Given the description of an element on the screen output the (x, y) to click on. 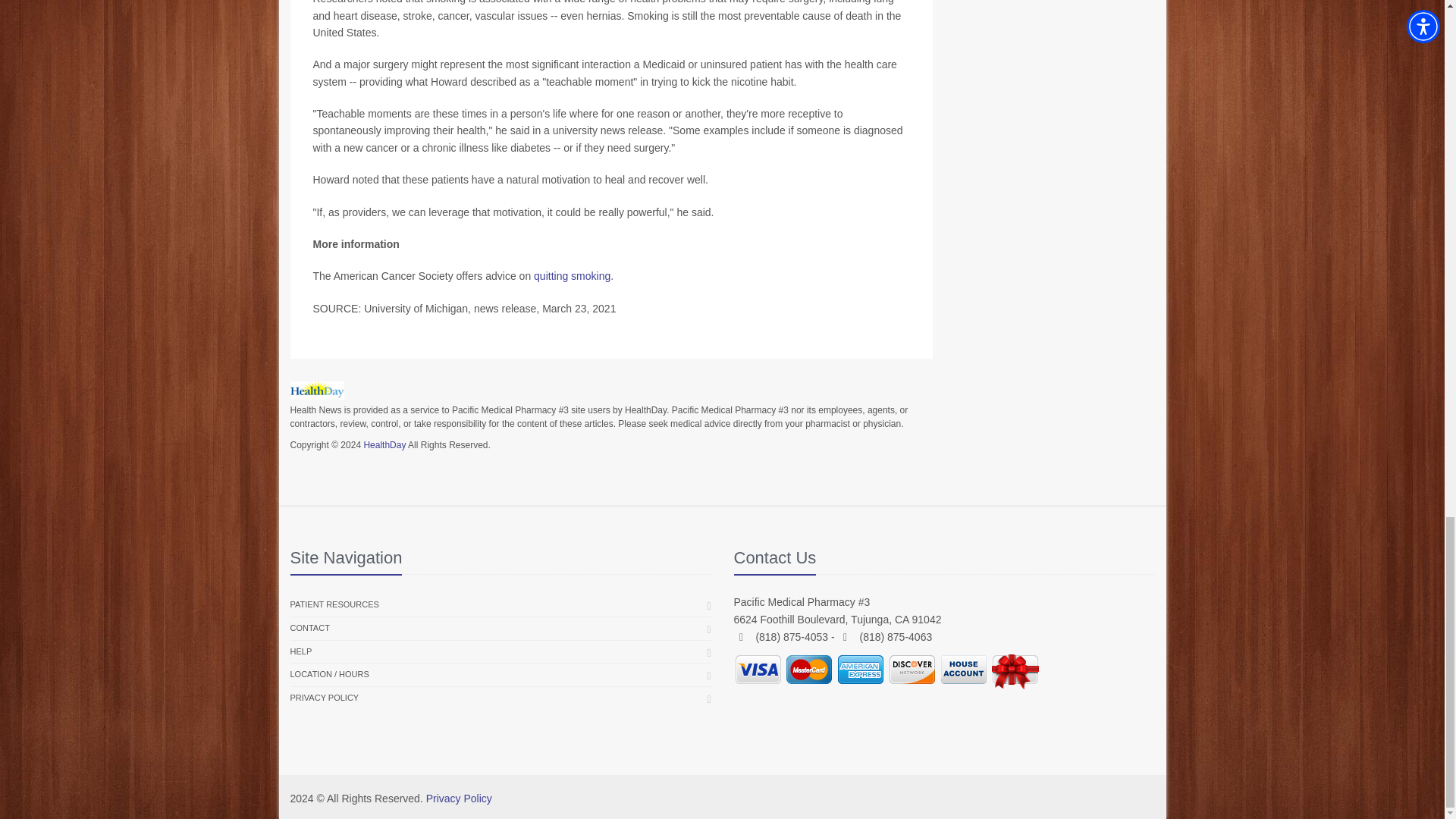
HealthDay (384, 444)
quitting smoking (572, 275)
